Given the description of an element on the screen output the (x, y) to click on. 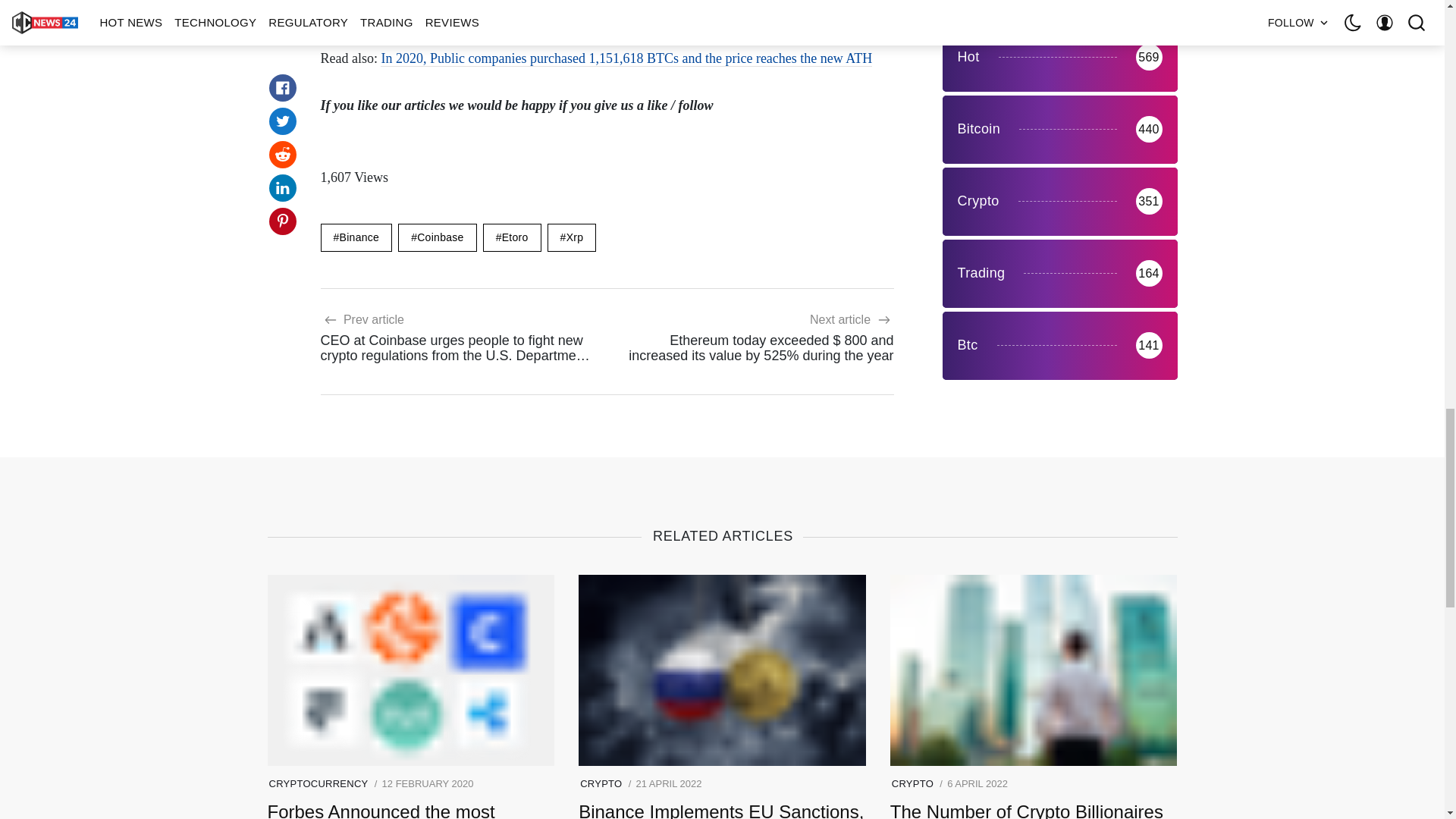
coinbase (436, 237)
xrp (571, 237)
etoro (512, 237)
Binance (355, 237)
